Given the description of an element on the screen output the (x, y) to click on. 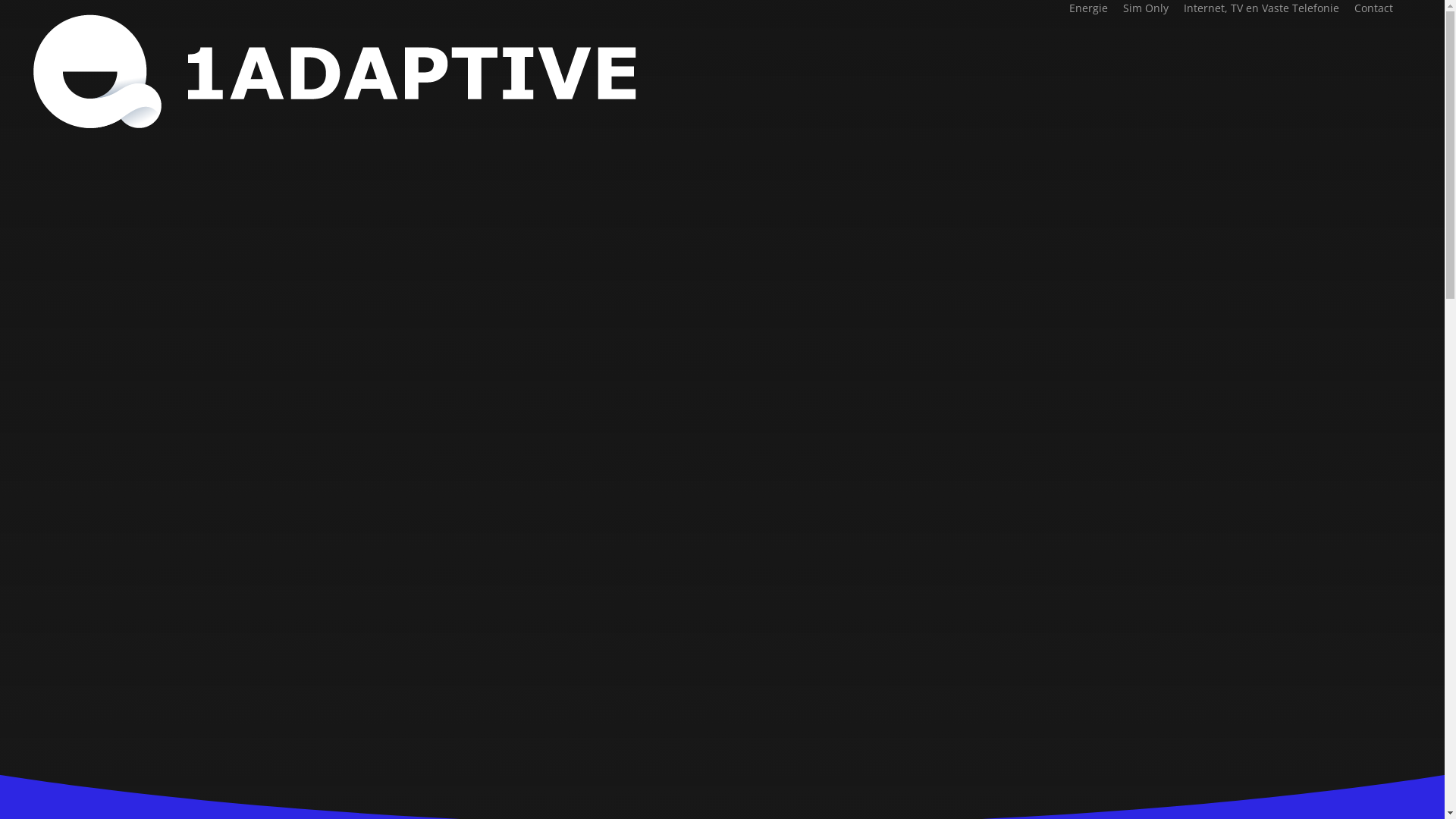
Internet, TV en Vaste Telefonie Element type: text (1261, 7)
Contact Element type: text (1373, 7)
Energie Element type: text (1088, 7)
Sim Only Element type: text (1145, 7)
